Given the description of an element on the screen output the (x, y) to click on. 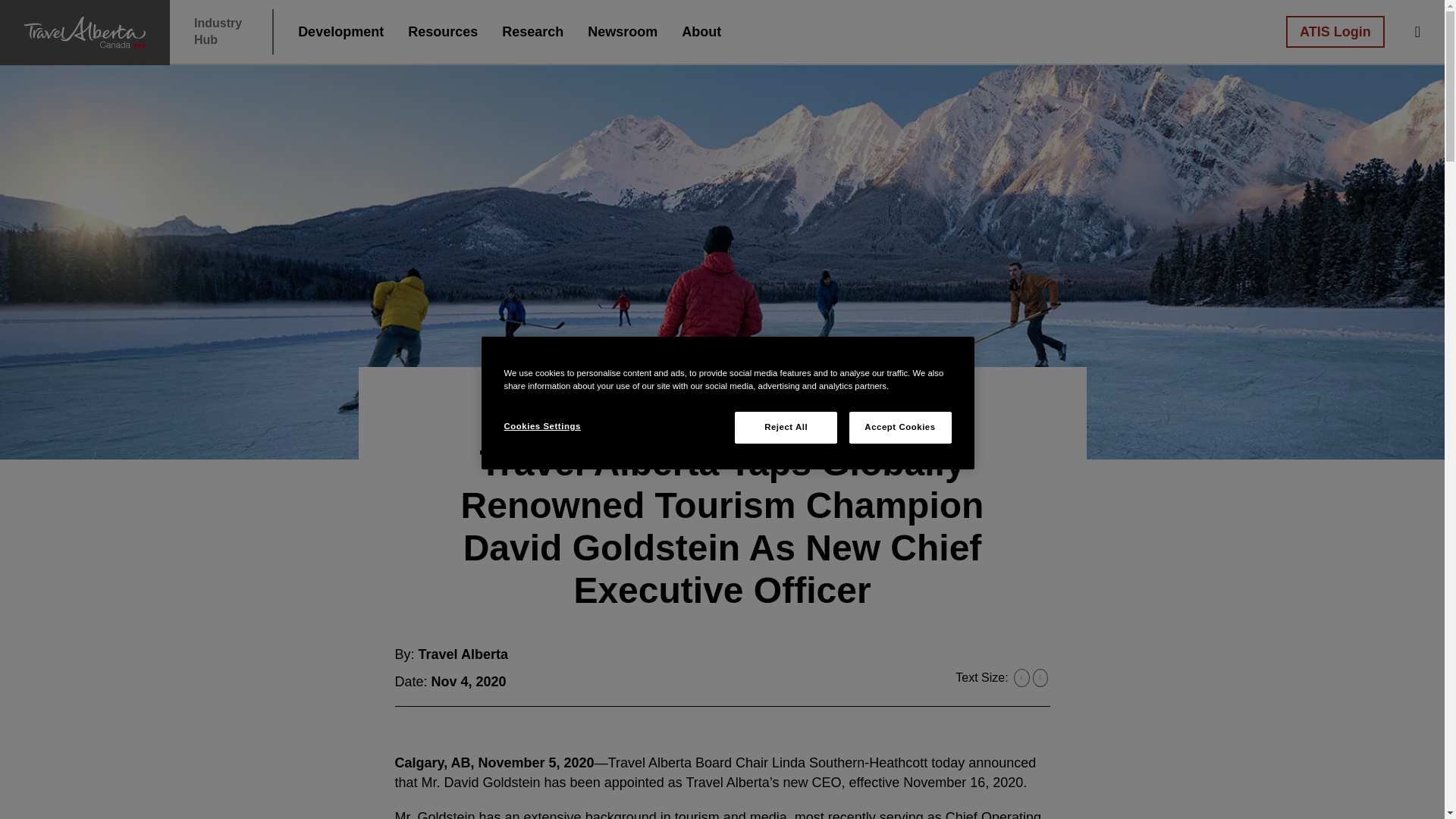
Newsroom (621, 31)
ATIS Login (1334, 31)
Resources (442, 31)
About (700, 31)
Development (217, 31)
Research (341, 31)
